Given the description of an element on the screen output the (x, y) to click on. 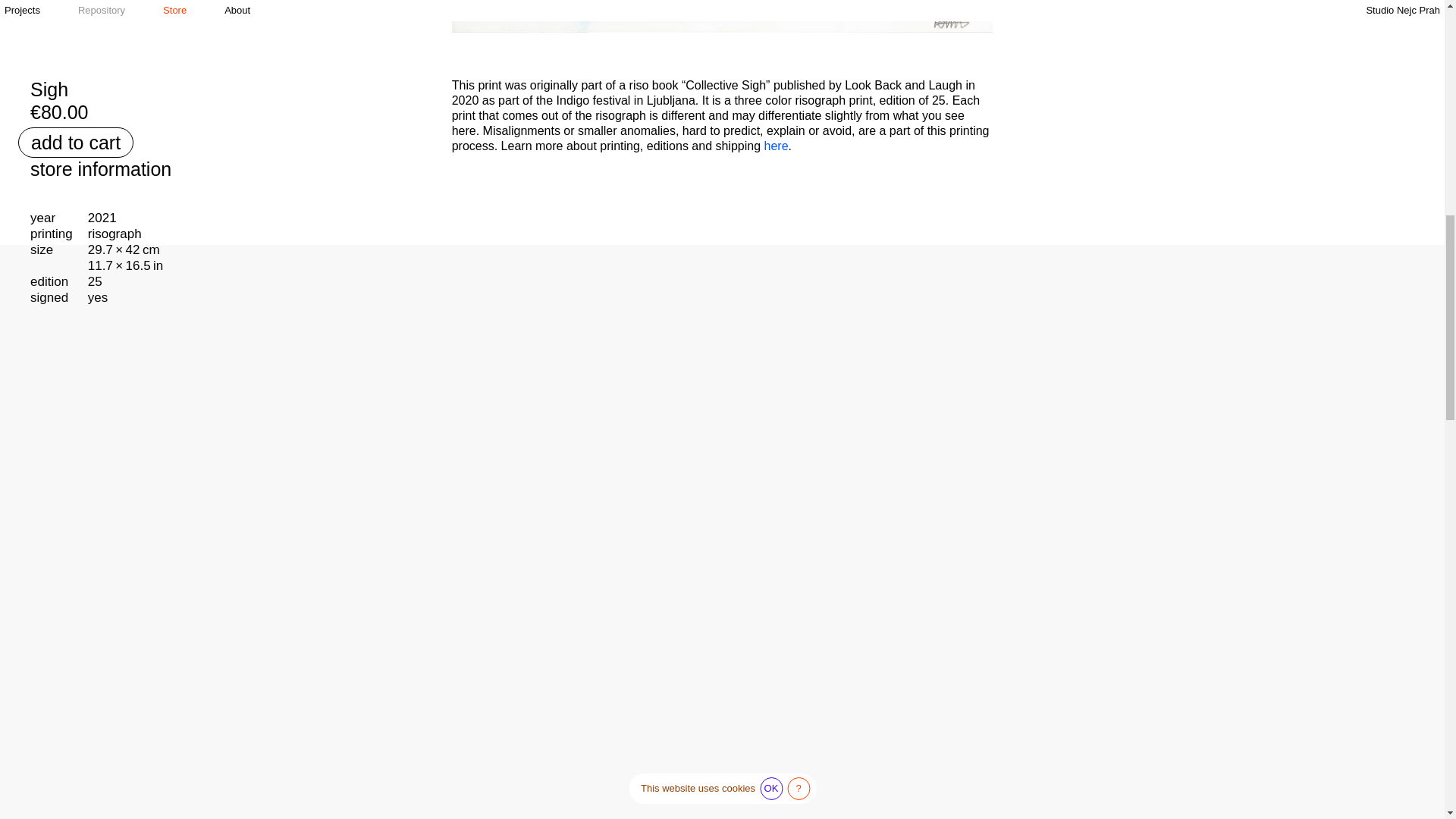
here (776, 145)
here (776, 145)
